Given the description of an element on the screen output the (x, y) to click on. 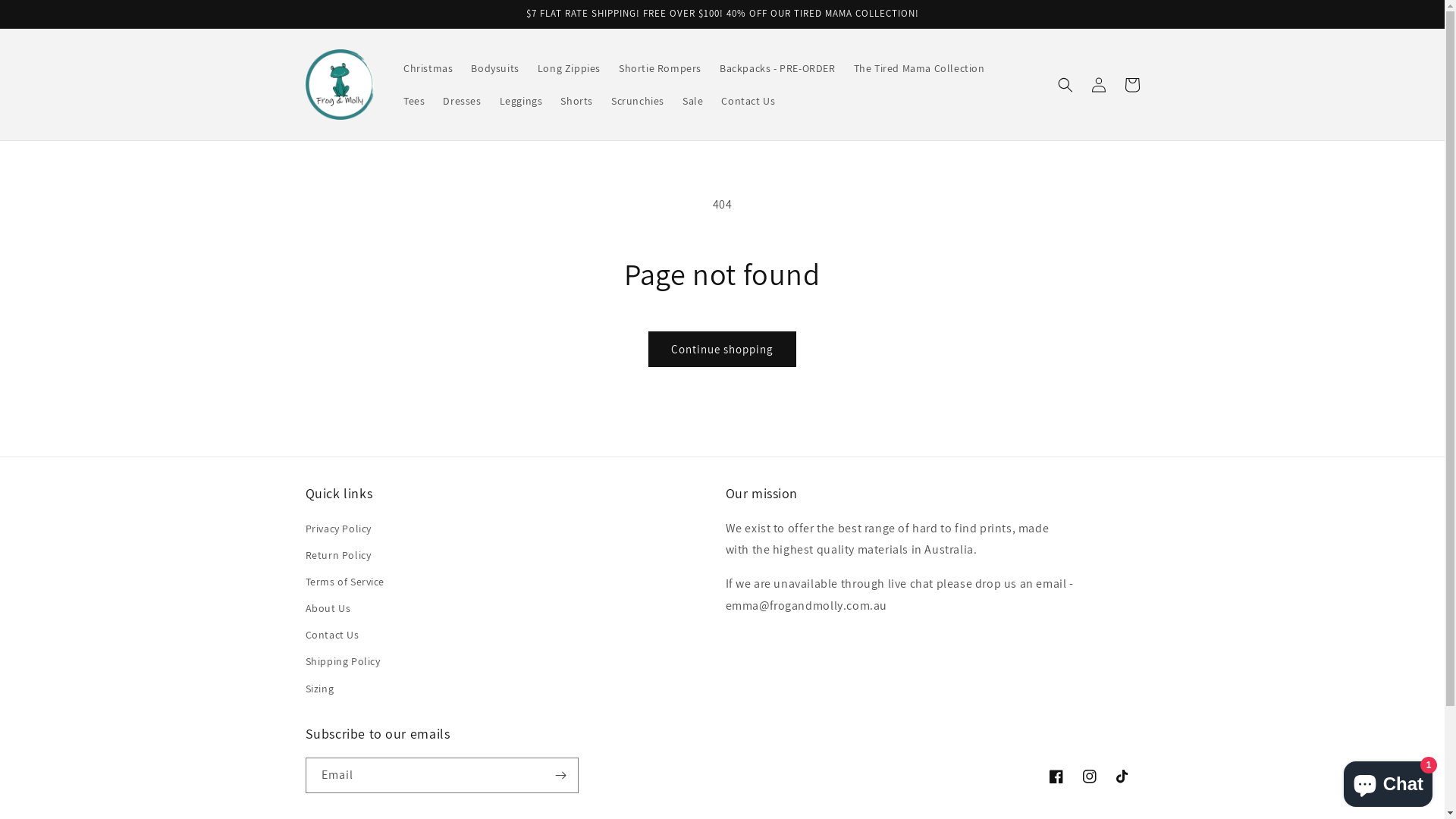
Backpacks - PRE-ORDER Element type: text (777, 68)
Contact Us Element type: text (748, 100)
Tees Element type: text (413, 100)
Privacy Policy Element type: text (337, 530)
Leggings Element type: text (521, 100)
Instagram Element type: text (1088, 776)
Shortie Rompers Element type: text (659, 68)
Sale Element type: text (692, 100)
Log in Element type: text (1097, 84)
Cart Element type: text (1131, 84)
Shipping Policy Element type: text (341, 661)
About Us Element type: text (327, 608)
Scrunchies Element type: text (637, 100)
The Tired Mama Collection Element type: text (919, 68)
Return Policy Element type: text (337, 555)
Shopify online store chat Element type: hover (1388, 780)
TikTok Element type: text (1122, 776)
Bodysuits Element type: text (494, 68)
Shorts Element type: text (576, 100)
Contact Us Element type: text (331, 634)
Facebook Element type: text (1055, 776)
Long Zippies Element type: text (568, 68)
Christmas Element type: text (427, 68)
Continue shopping Element type: text (722, 349)
Terms of Service Element type: text (344, 581)
Sizing Element type: text (318, 688)
Dresses Element type: text (461, 100)
